Given the description of an element on the screen output the (x, y) to click on. 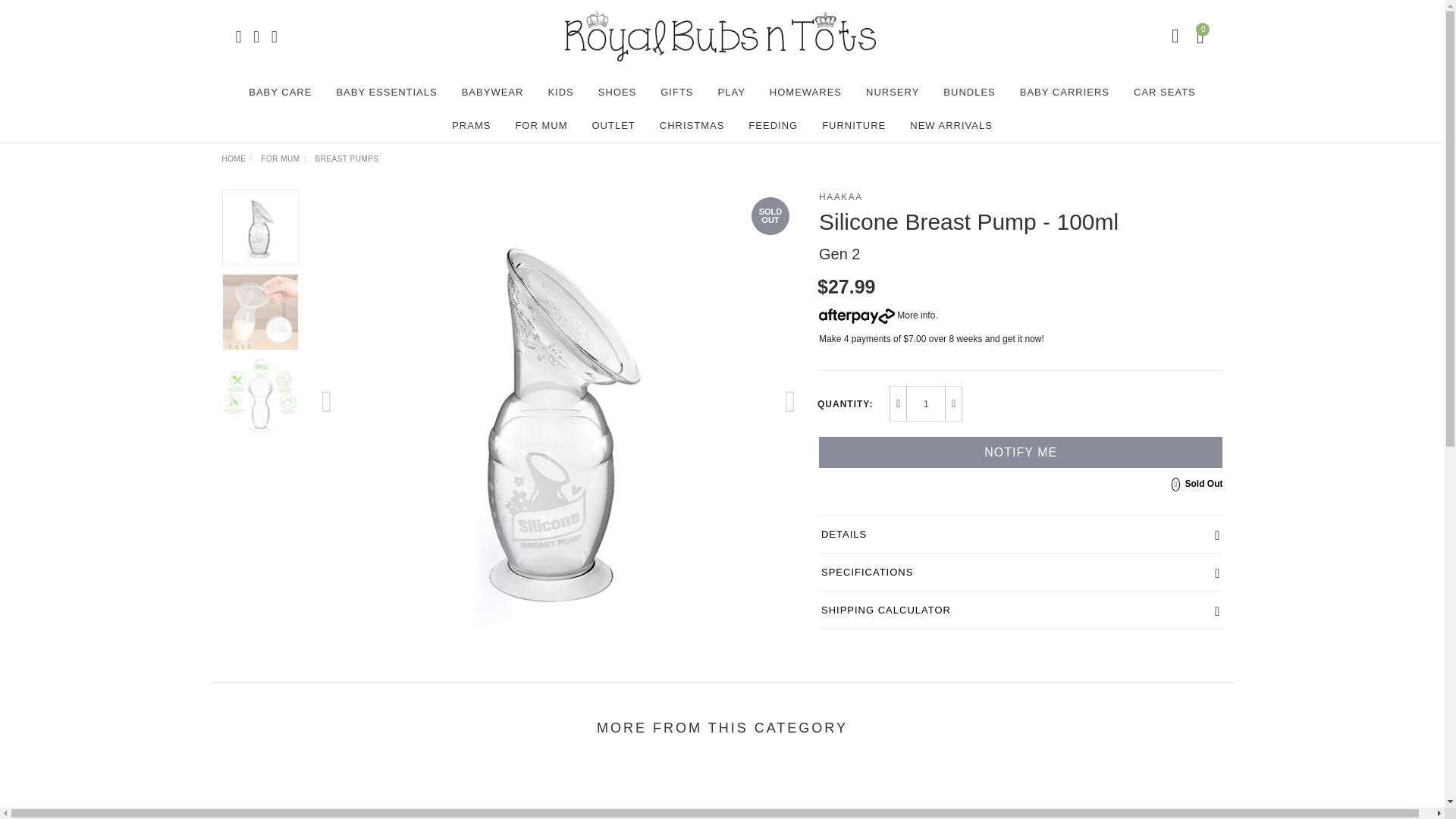
Royal Bubs n Tots (720, 35)
0 (1202, 35)
Large View (260, 396)
BABY CARE (279, 92)
Notify Me When Silicone Breast Pump - 100ml Is Back In Stock (1020, 451)
Large View (260, 311)
1 (926, 403)
HAAKAA (840, 196)
BABY ESSENTIALS (386, 92)
